Given the description of an element on the screen output the (x, y) to click on. 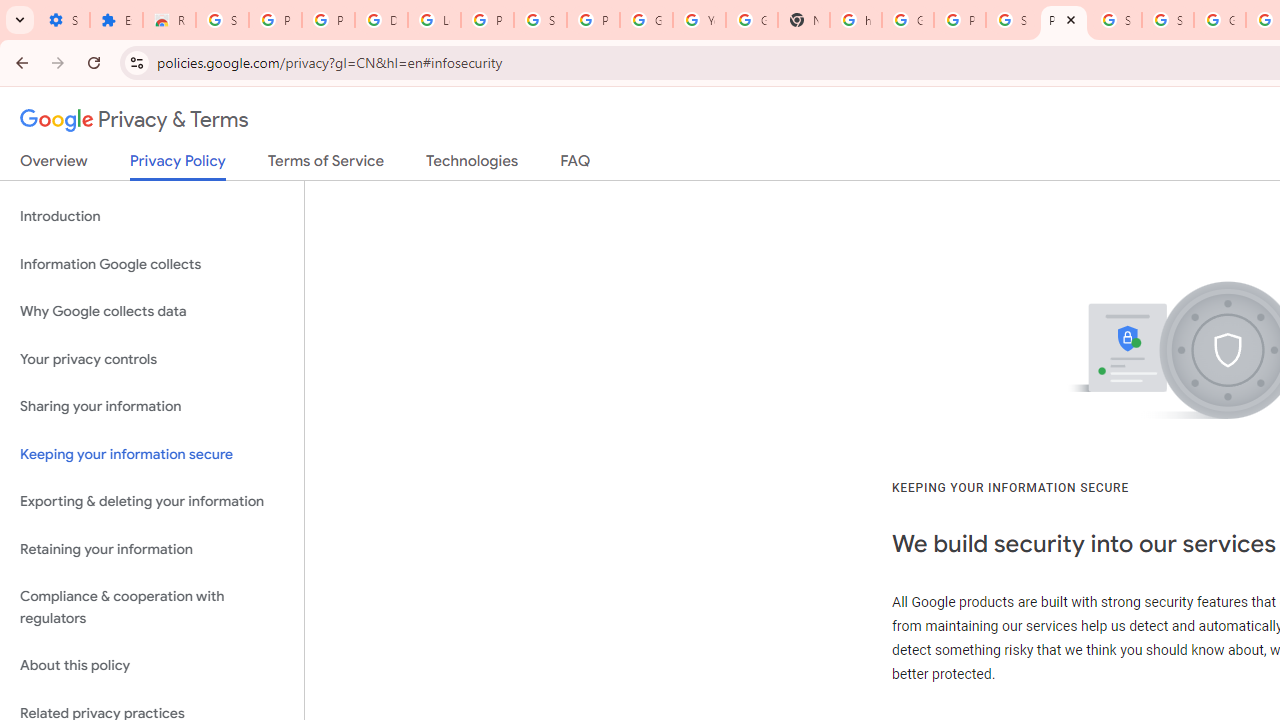
Settings - On startup (63, 20)
https://scholar.google.com/ (855, 20)
